Given the description of an element on the screen output the (x, y) to click on. 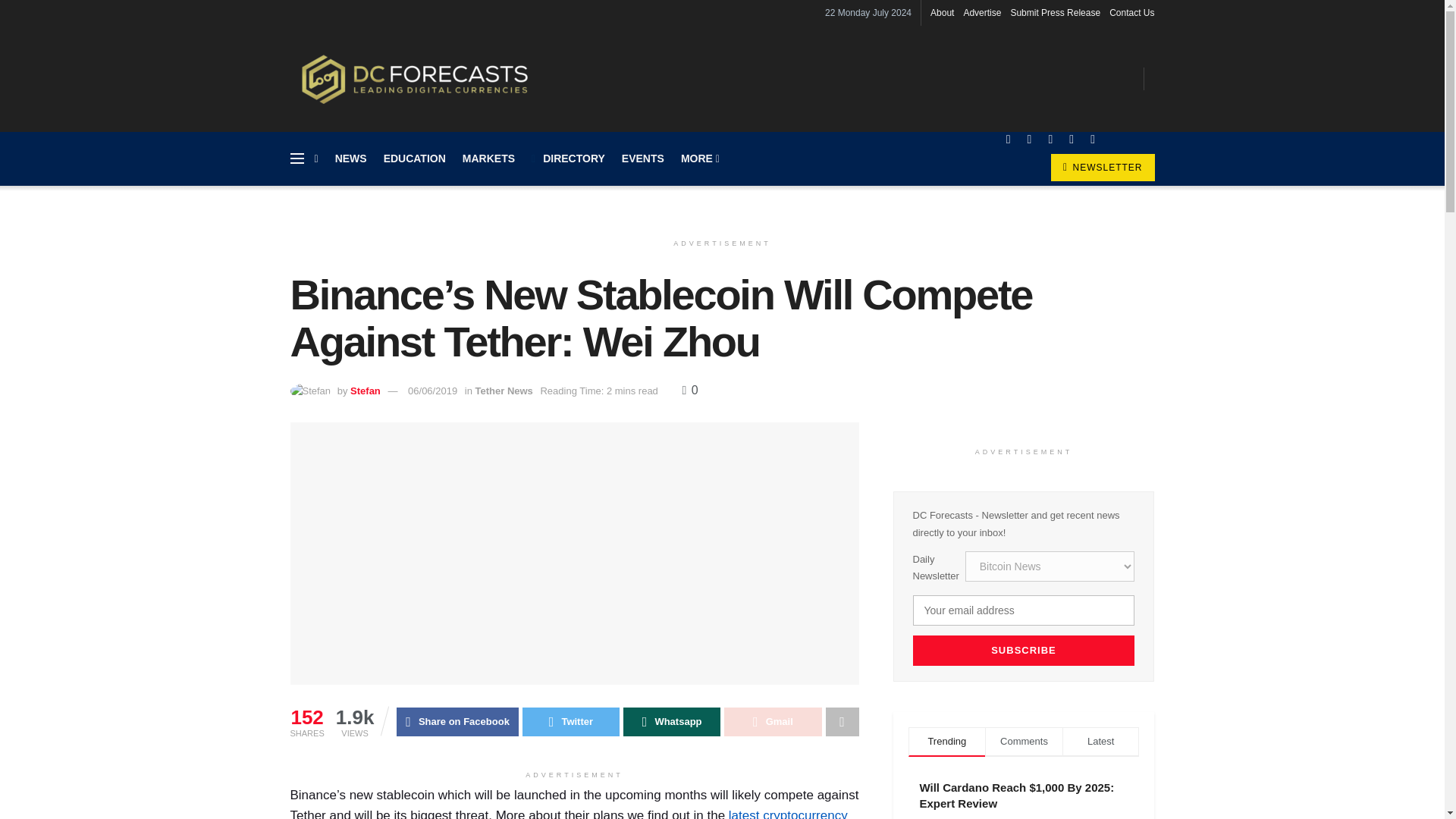
SUBSCRIBE (1023, 650)
Advertise (981, 12)
Submit Press Release (1055, 12)
About (941, 12)
Contact Us (1131, 12)
